Given the description of an element on the screen output the (x, y) to click on. 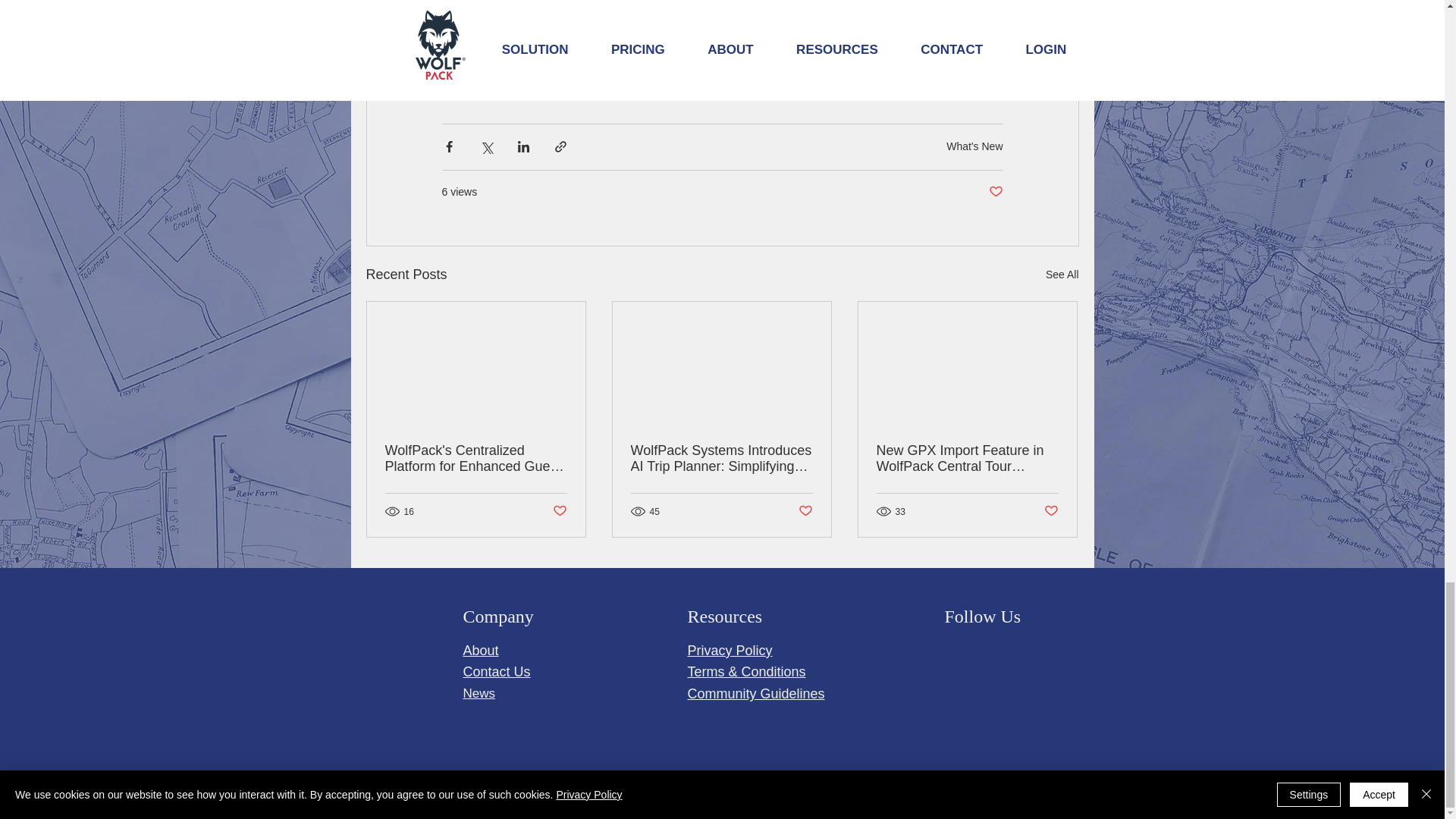
Privacy Policy (729, 650)
See All (1061, 274)
Contact Us (496, 671)
Post not marked as liked (995, 191)
Post not marked as liked (804, 511)
News (479, 693)
About (480, 650)
